Given the description of an element on the screen output the (x, y) to click on. 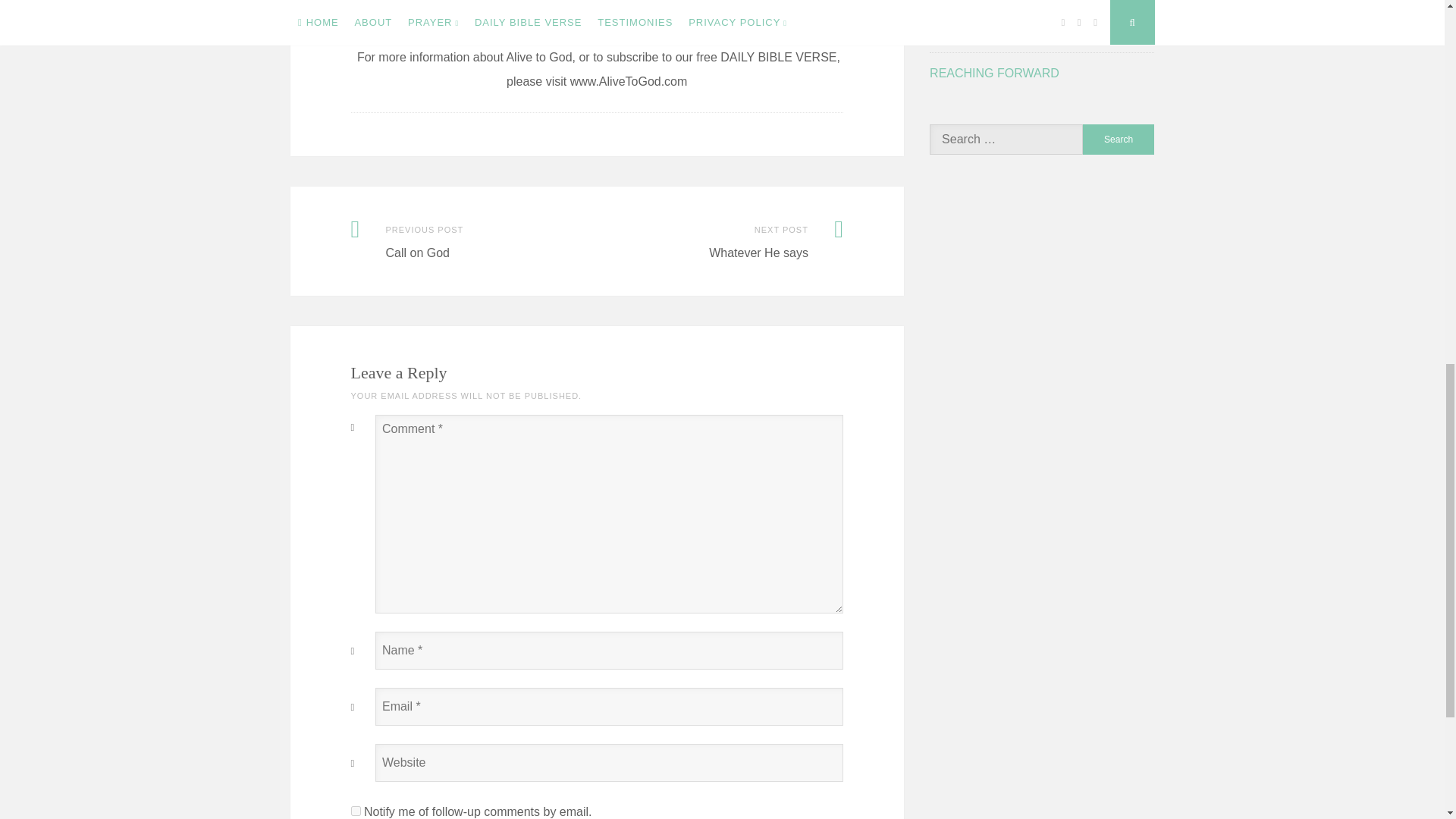
Search (1118, 139)
Search (1118, 139)
REACHING FORWARD (994, 72)
subscribe (354, 810)
Search (1118, 139)
